Given the description of an element on the screen output the (x, y) to click on. 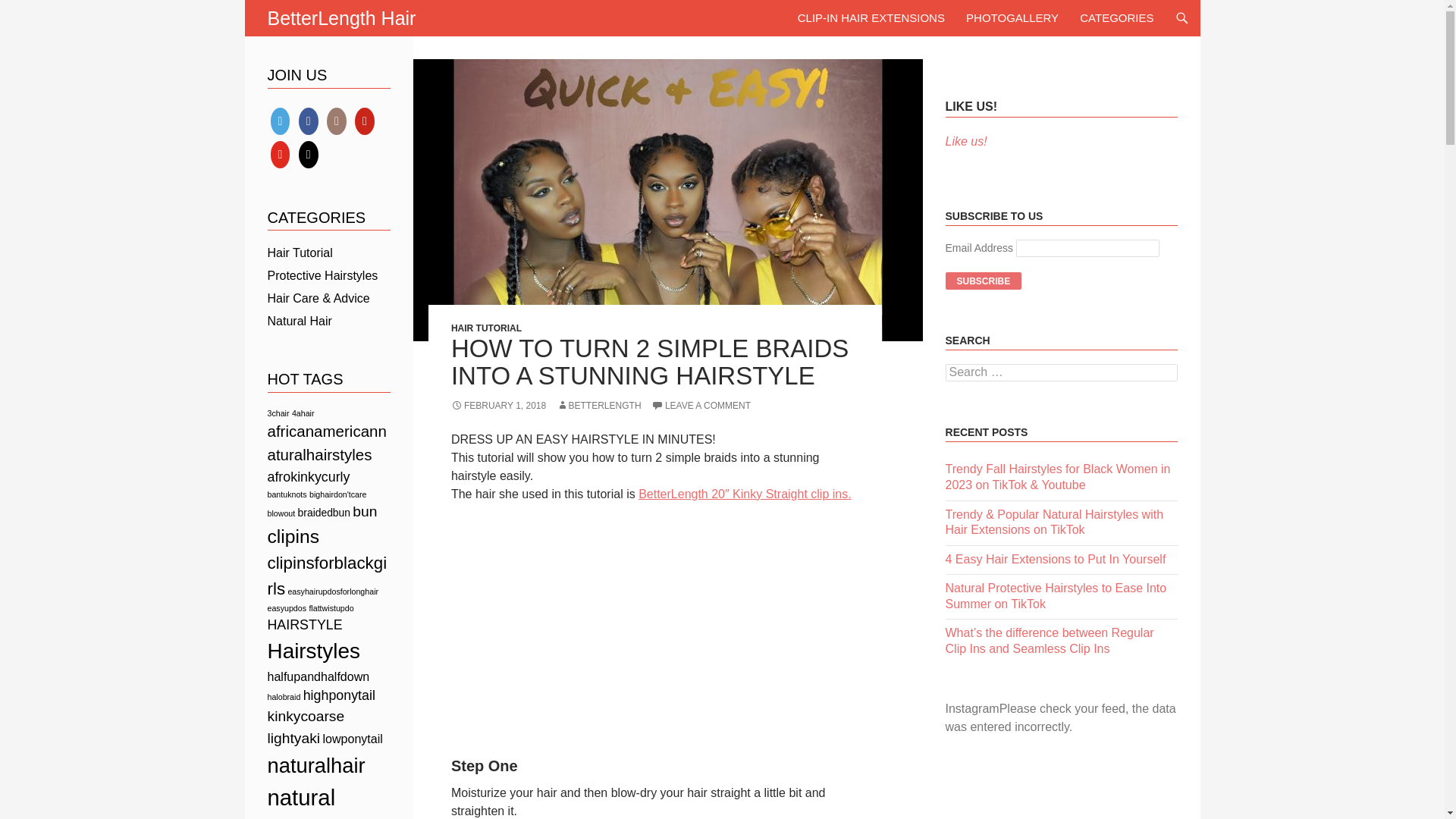
PHOTOGALLERY (1011, 18)
Like us! (965, 141)
Subscribe (983, 280)
Clip-in Hair Extensions (871, 18)
photogallery (1011, 18)
BetterLength Hair (340, 18)
Search (30, 8)
Subscribe (983, 280)
FEBRUARY 1, 2018 (498, 405)
CATEGORIES (1115, 18)
4 Easy Hair Extensions to Put In Yourself (1055, 558)
HAIR TUTORIAL (486, 327)
BETTERLENGTH (599, 405)
LEAVE A COMMENT (700, 405)
